Given the description of an element on the screen output the (x, y) to click on. 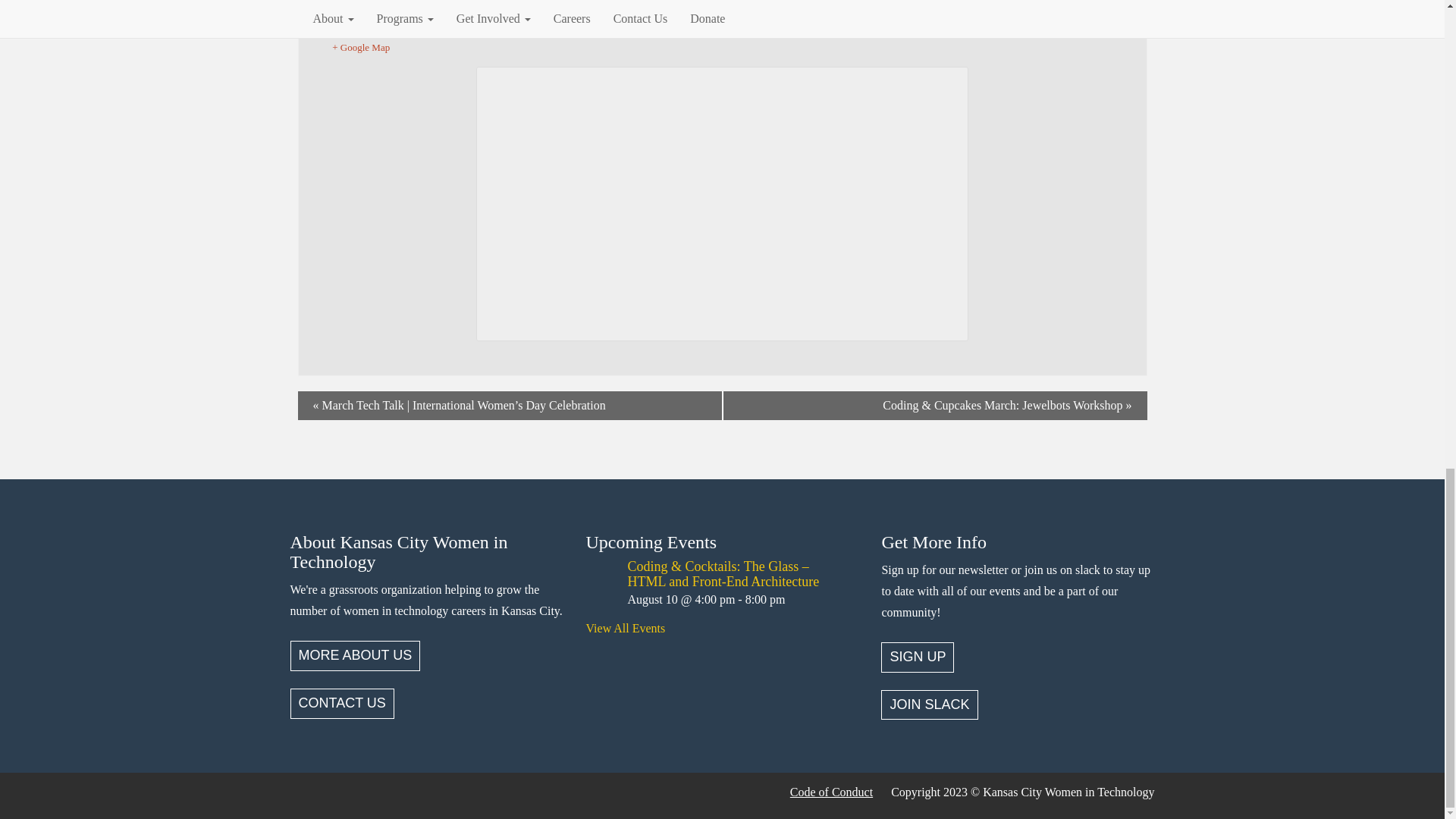
Missouri (391, 32)
Click to view a Google Map (721, 47)
